Given the description of an element on the screen output the (x, y) to click on. 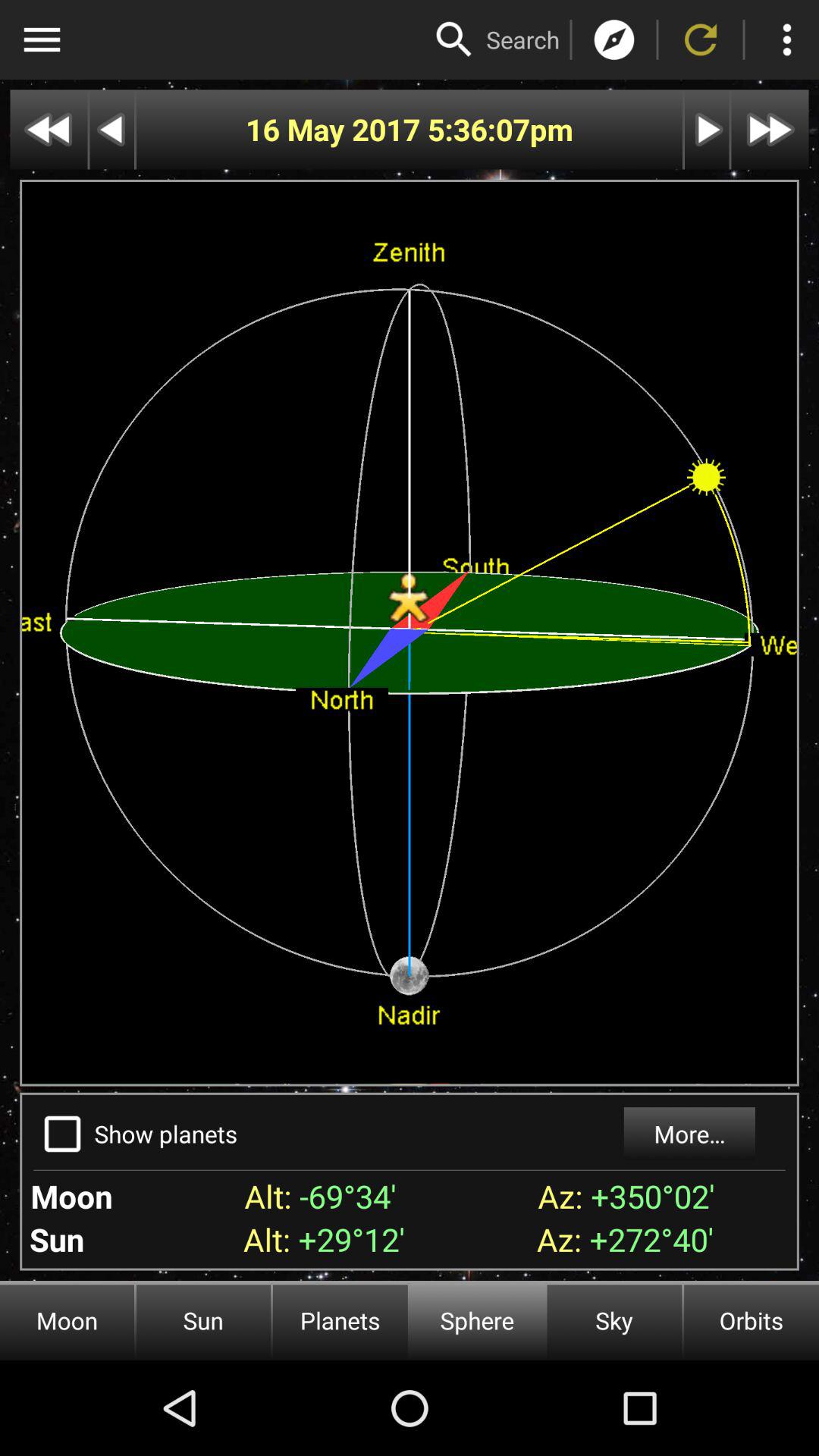
choose the app to the left of the pm item (478, 129)
